Given the description of an element on the screen output the (x, y) to click on. 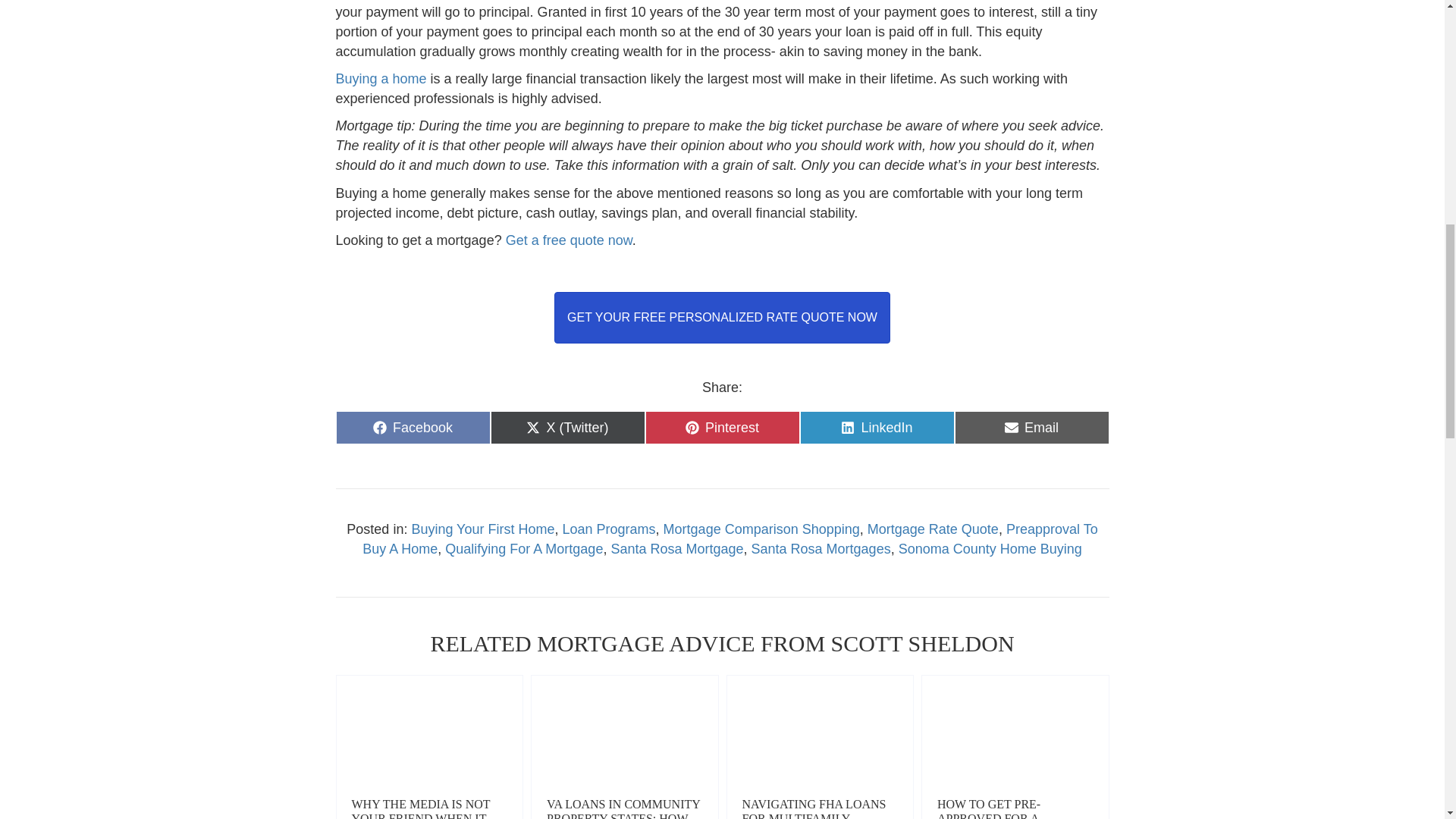
Loan Programs (609, 529)
Buying a home (380, 78)
Qualifying For A Mortgage (523, 548)
Buying Your First Home (482, 529)
GET YOUR FREE PERSONALIZED RATE QUOTE NOW (721, 317)
Mortgage Rate Quote (932, 529)
Preapproval To Buy A Home (729, 538)
Santa Rosa Mortgage (676, 548)
